Given the description of an element on the screen output the (x, y) to click on. 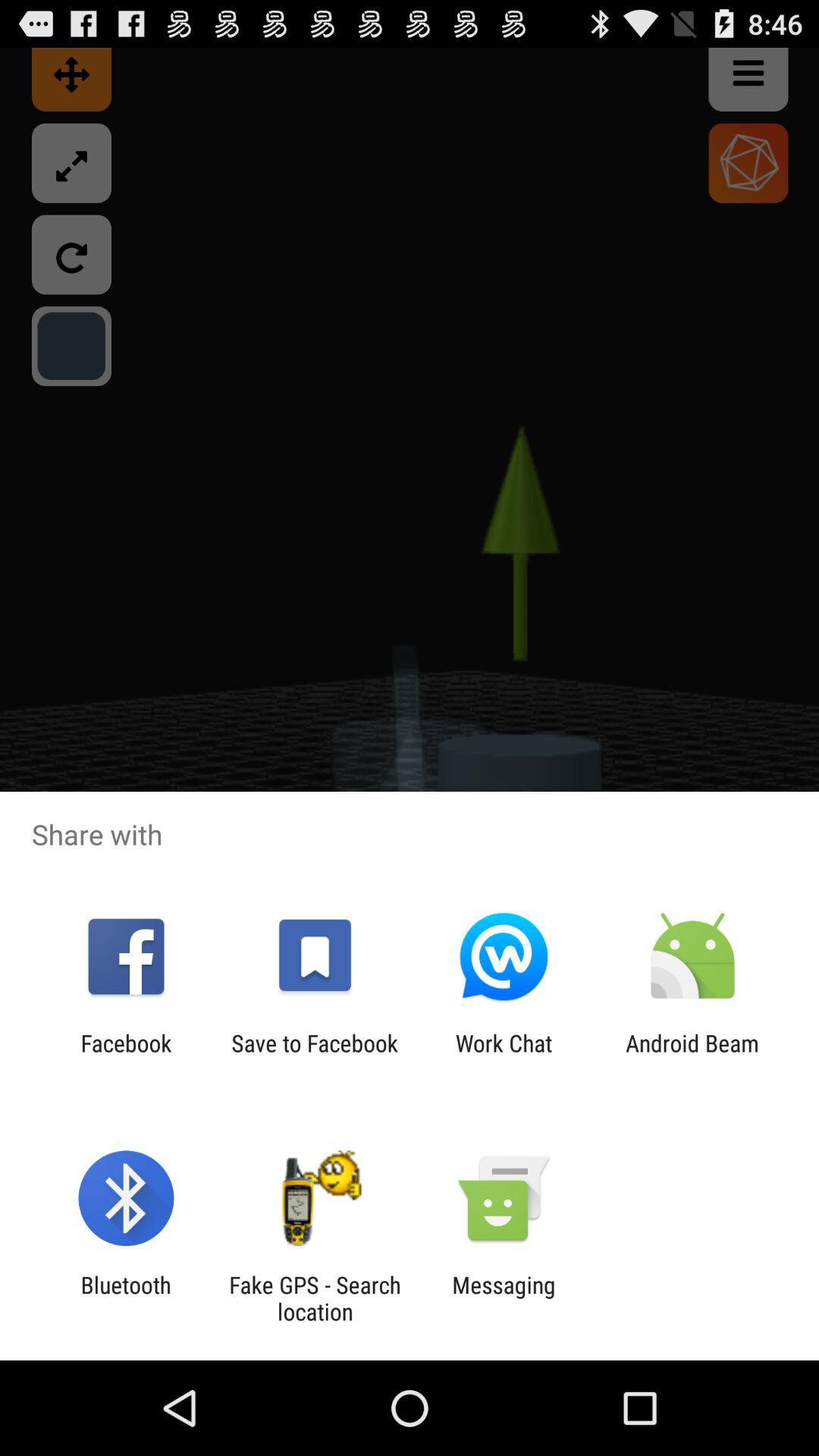
turn on the app to the left of the messaging app (314, 1298)
